Given the description of an element on the screen output the (x, y) to click on. 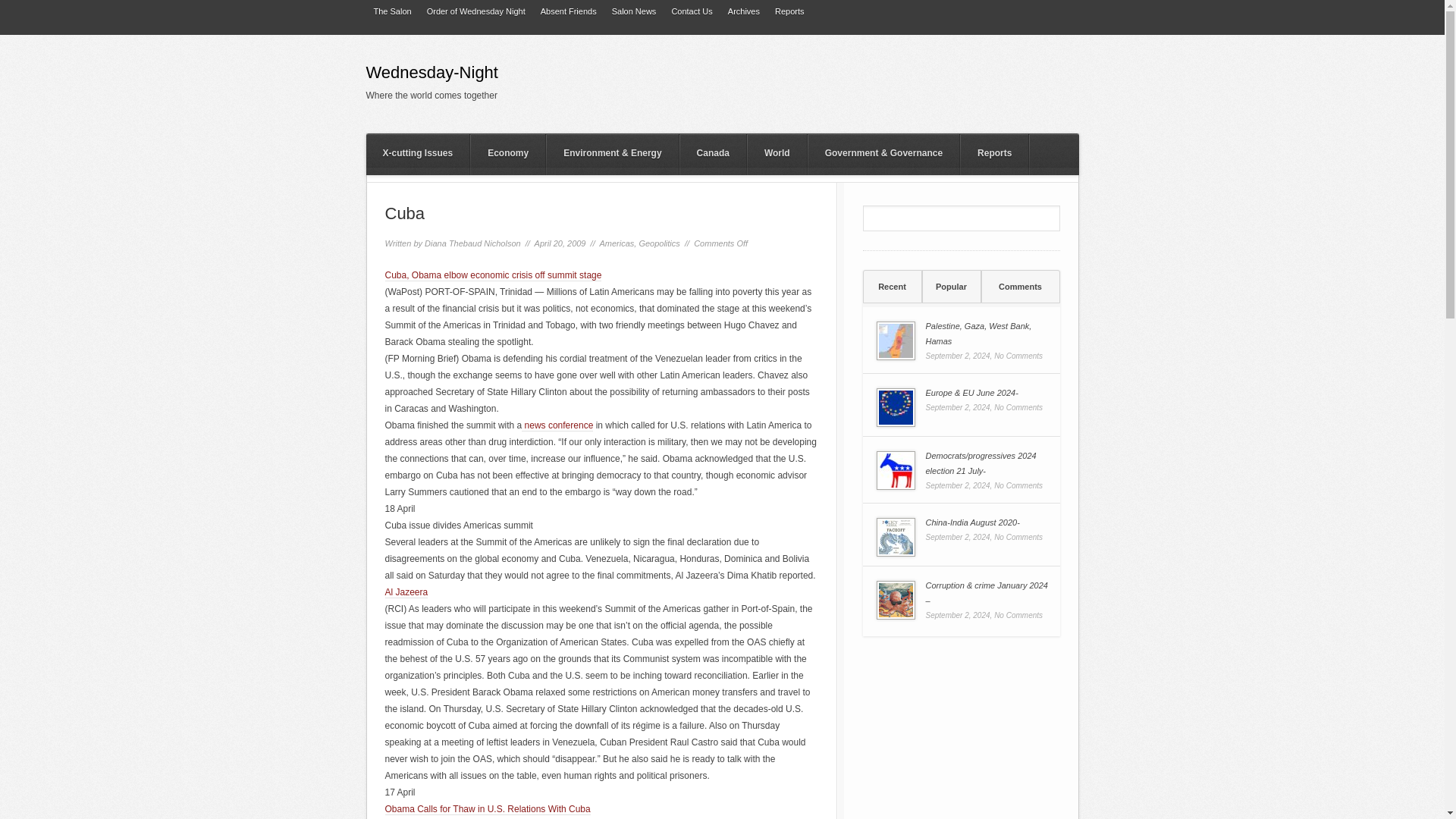
Posts by Diana Thebaud Nicholson (473, 243)
X-cutting Issues (416, 154)
Salon News (633, 11)
Order of Wednesday Night (475, 11)
Wednesday-Night (509, 76)
The Salon (392, 11)
Economy (507, 154)
Absent Friends (568, 11)
Archives (743, 11)
Reports (789, 11)
